Given the description of an element on the screen output the (x, y) to click on. 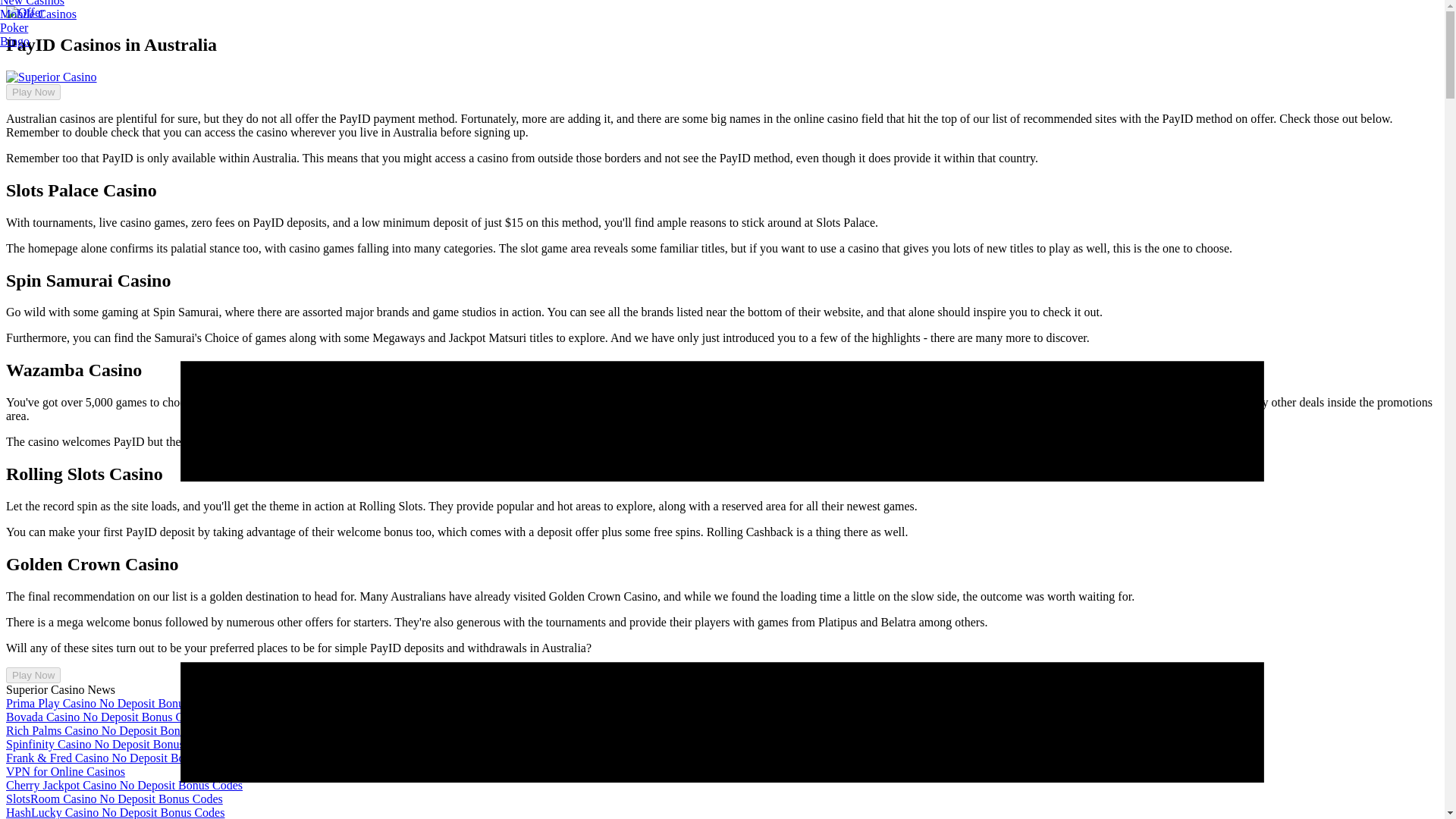
Rich Palms Casino No Deposit Bonus Codes (114, 730)
Play Now (33, 675)
Bovada Casino No Deposit Bonus Codes (105, 716)
HashLucky Casino No Deposit Bonus Codes (114, 812)
SlotsRoom Casino No Deposit Bonus Codes (113, 798)
VPN for Online Casinos (65, 771)
Spinfinity Casino No Deposit Bonus Codes (110, 744)
Cherry Jackpot Casino No Deposit Bonus Codes (124, 784)
Play Now (33, 91)
Prima Play Casino No Deposit Bonus Codes (113, 703)
